Given the description of an element on the screen output the (x, y) to click on. 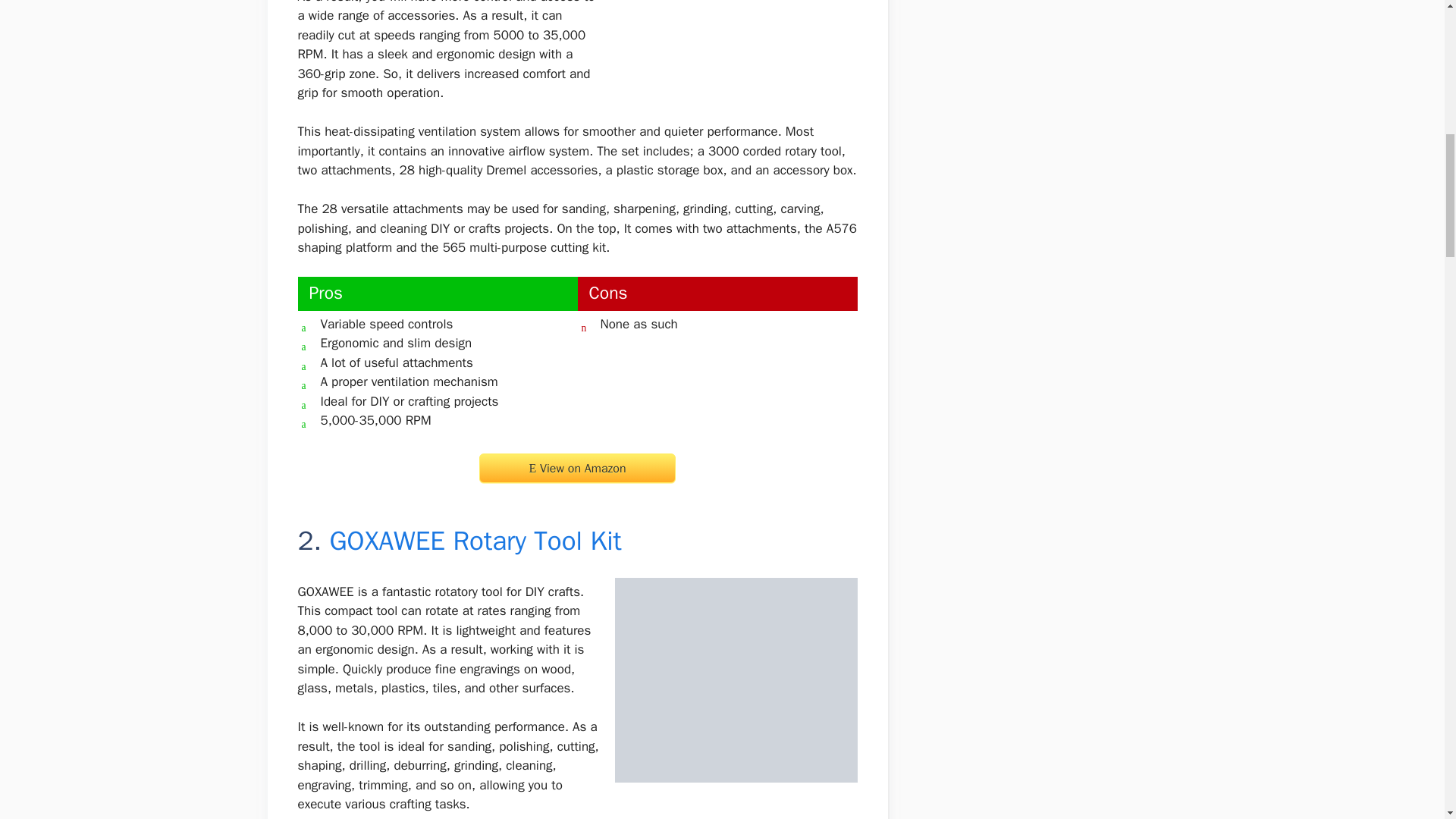
GOXAWEE Rotary Tool Kit (475, 540)
View on Amazon (577, 468)
